Given the description of an element on the screen output the (x, y) to click on. 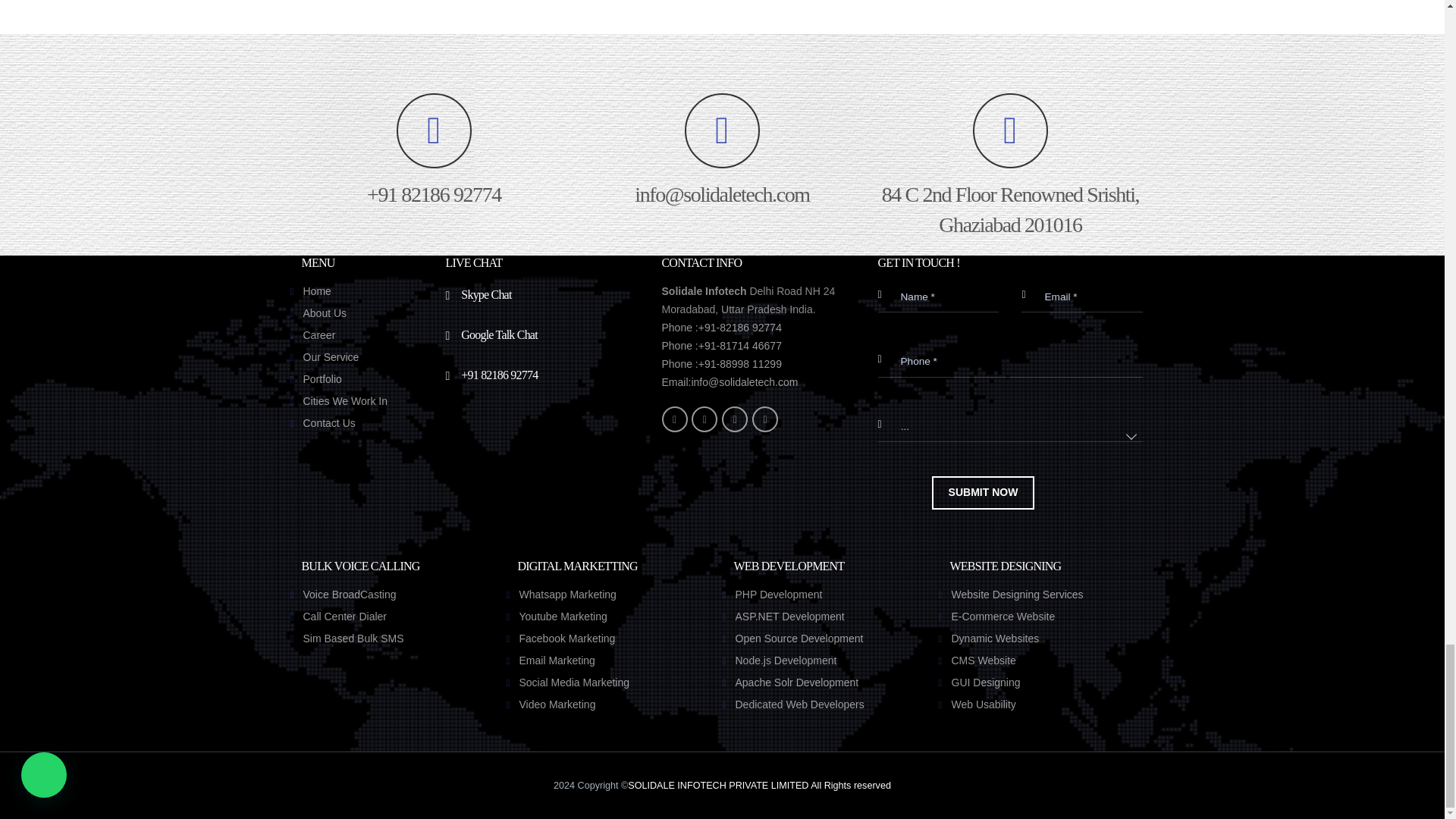
SUBMIT NOW (983, 492)
82186 92774 (434, 151)
